Given the description of an element on the screen output the (x, y) to click on. 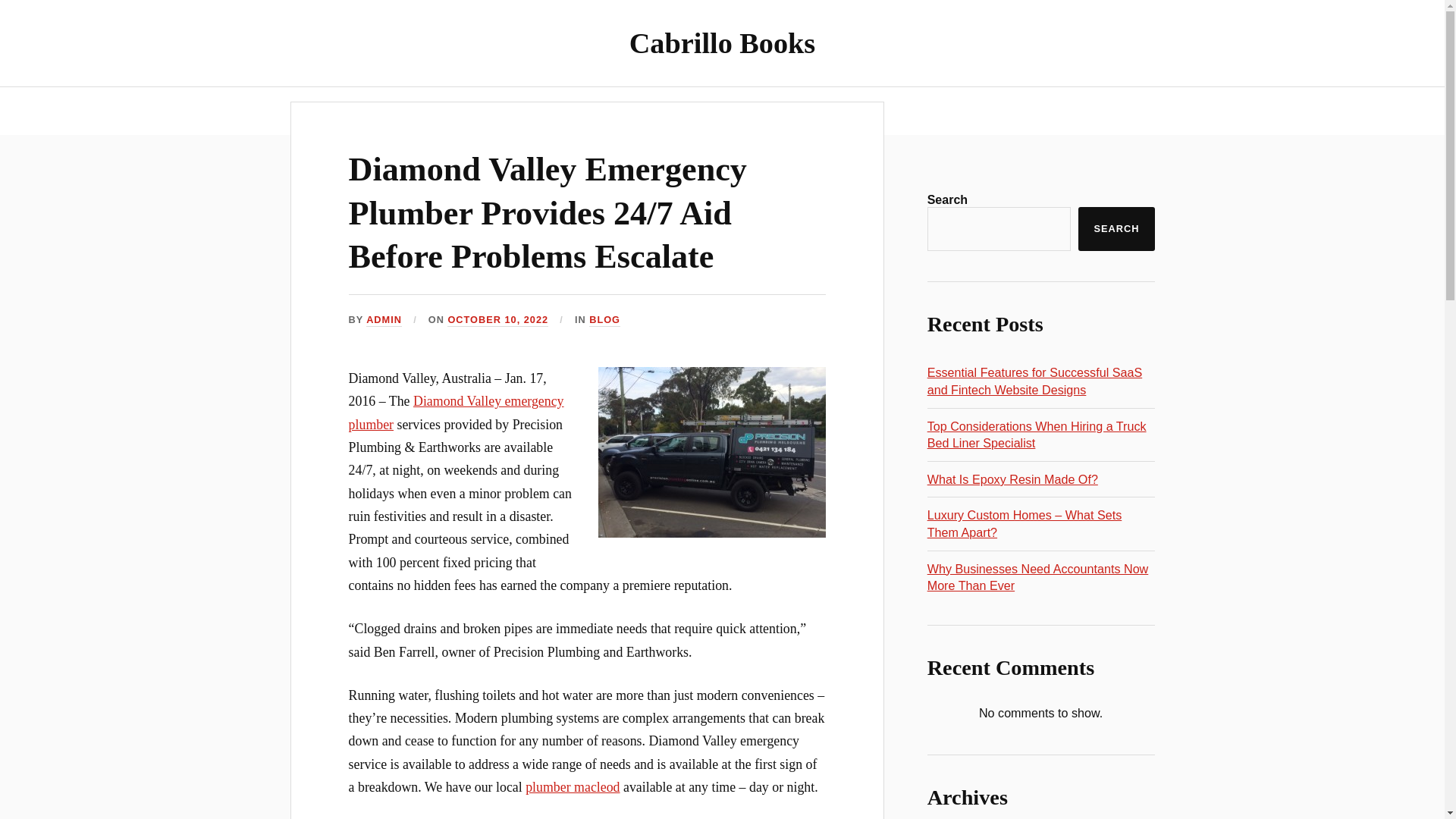
Top Considerations When Hiring a Truck Bed Liner Specialist (1037, 434)
OCTOBER 10, 2022 (497, 319)
BLOG (604, 319)
Why Businesses Need Accountants Now More Than Ever (1037, 576)
plumber macleod (572, 786)
Cabrillo Books (721, 42)
SEARCH (1116, 228)
What Is Epoxy Resin Made Of? (1012, 479)
ADMIN (383, 319)
Diamond Valley emergency plumber (456, 412)
Posts by admin (383, 319)
